Given the description of an element on the screen output the (x, y) to click on. 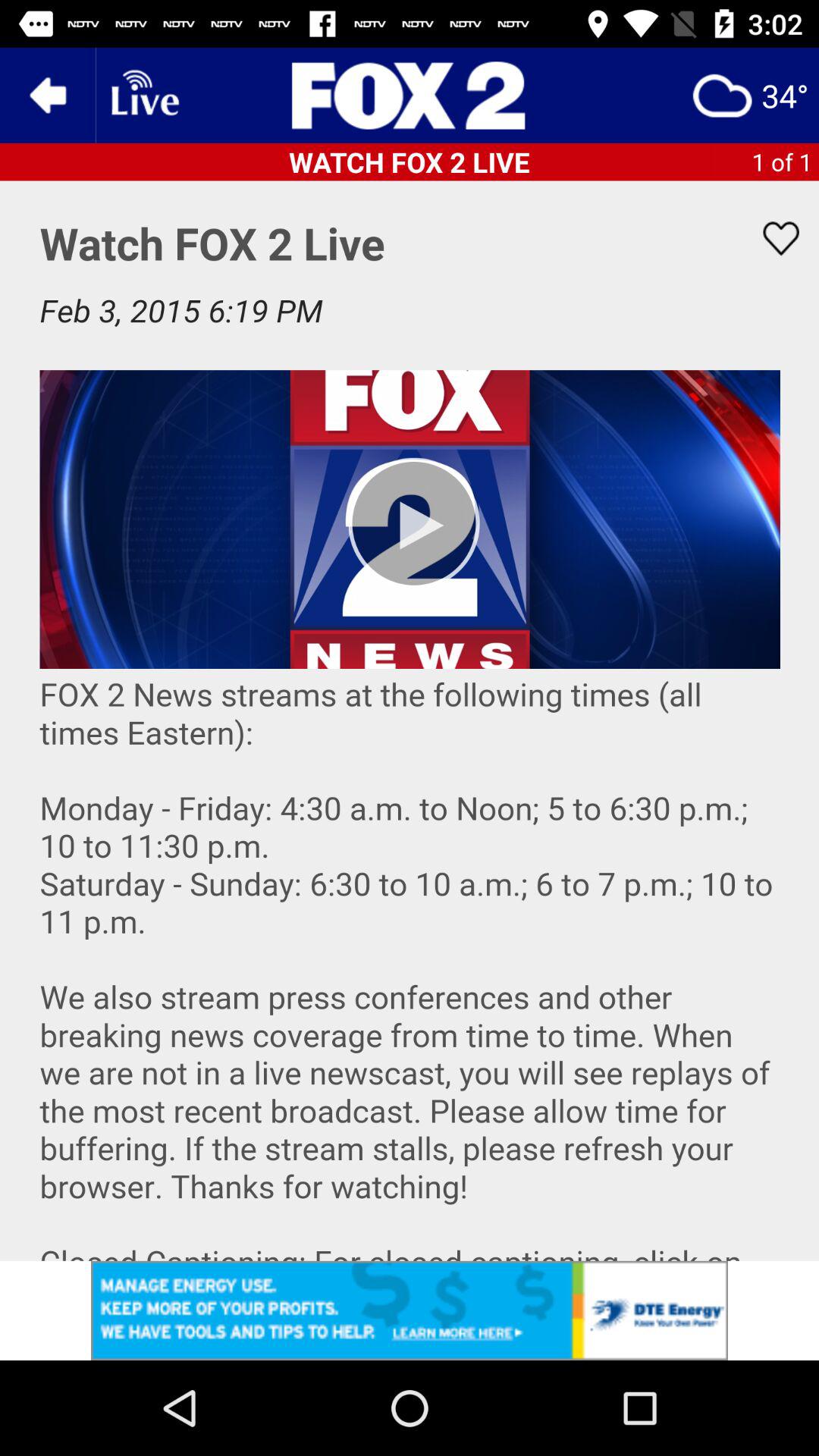
toggle favorite option (771, 238)
